Given the description of an element on the screen output the (x, y) to click on. 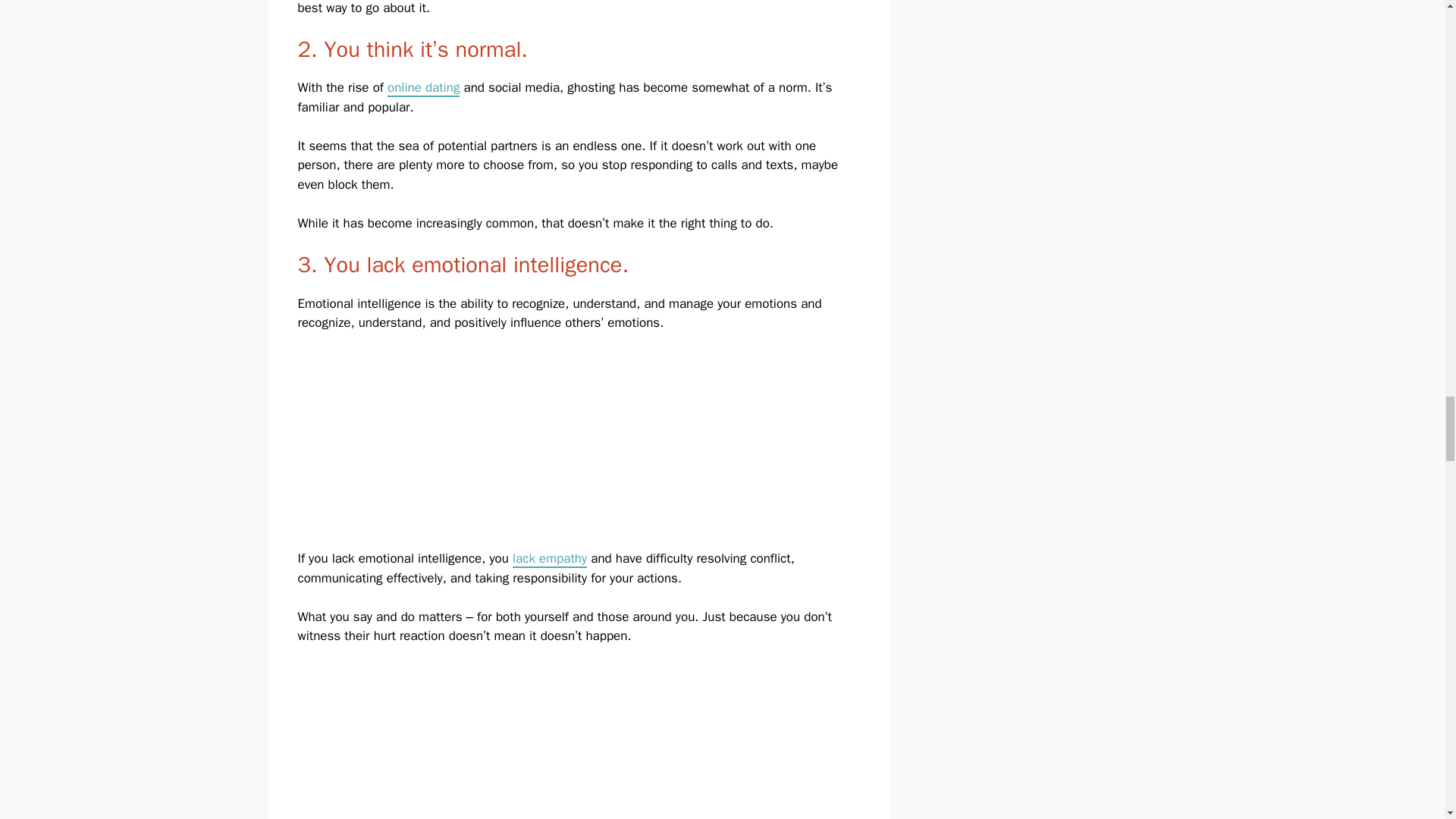
online dating (423, 88)
lack empathy (549, 559)
